Given the description of an element on the screen output the (x, y) to click on. 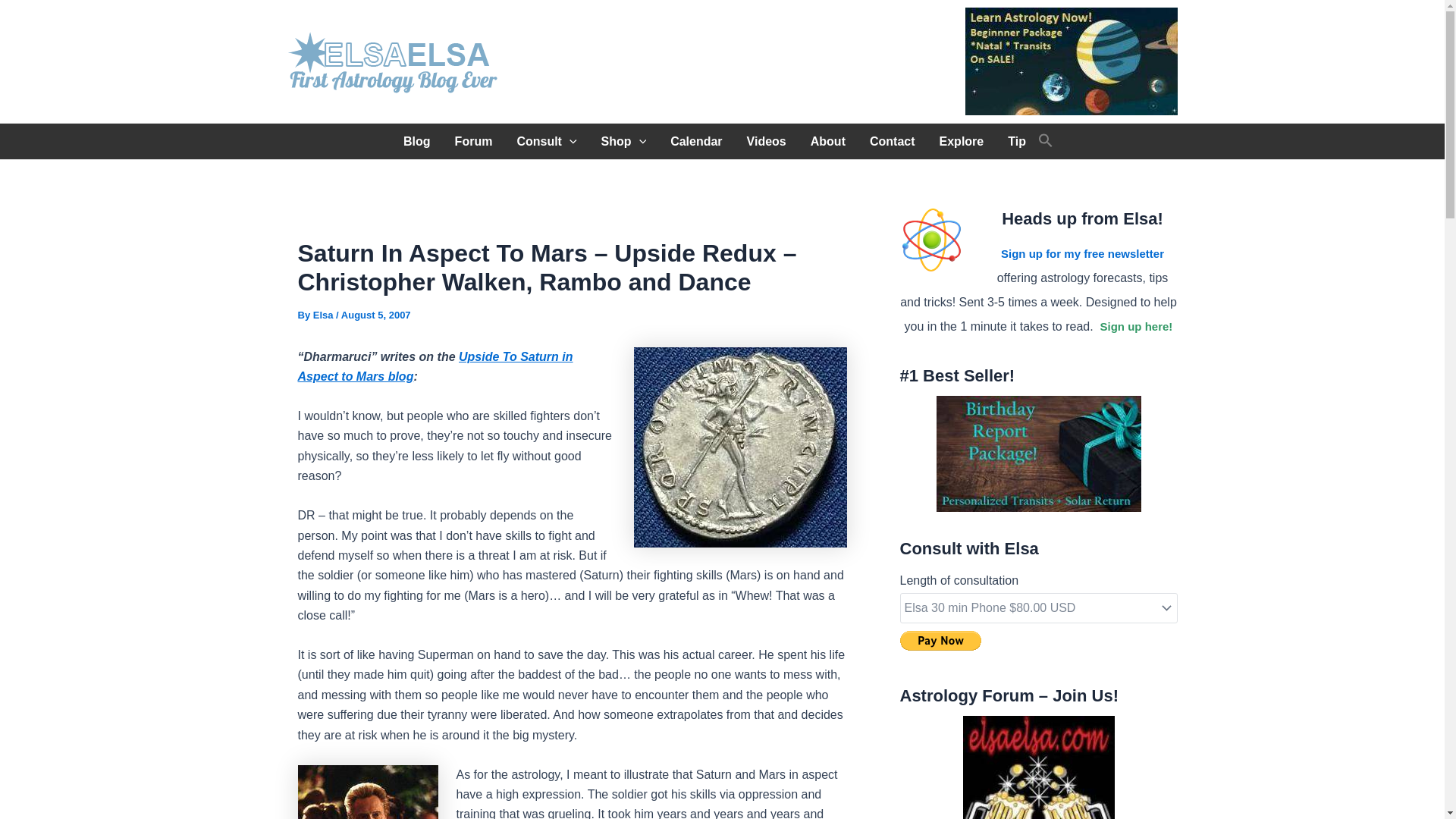
About (827, 140)
Contact (892, 140)
Tip (1016, 140)
Shop (624, 140)
Forum (473, 140)
Calendar (695, 140)
Blog (416, 140)
Explore (961, 140)
Consult (545, 140)
View all posts by Elsa (324, 315)
